Given the description of an element on the screen output the (x, y) to click on. 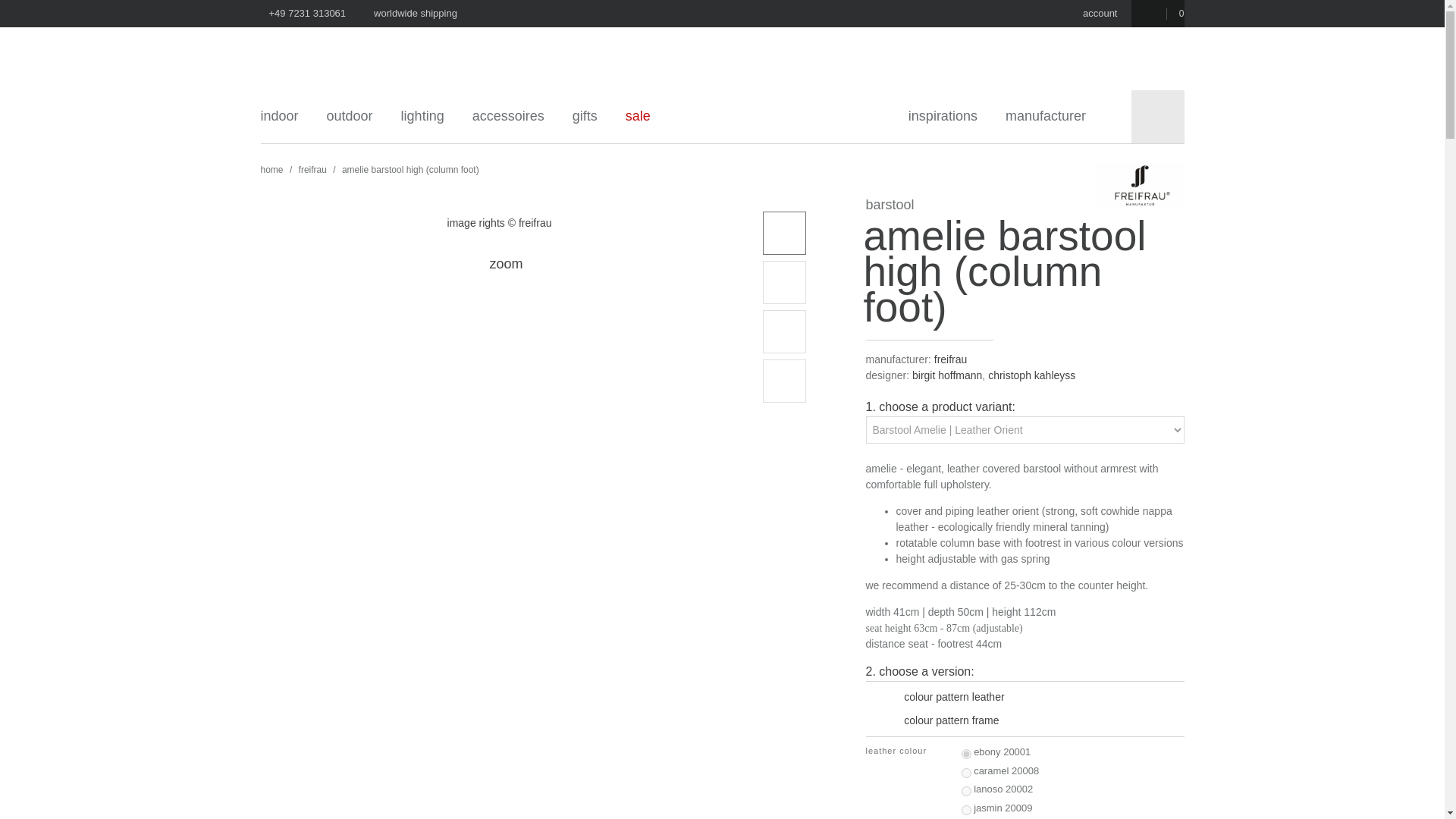
  colour pattern leather (947, 696)
  colour pattern frame (944, 720)
226547 (965, 809)
226546 (965, 791)
inspirations (948, 116)
226544 (965, 754)
outdoor (355, 116)
indoor (289, 116)
birgit hoffmann (946, 375)
home (273, 169)
christoph kahleyss (1031, 375)
sale (646, 116)
0 (1158, 13)
freifrau (312, 169)
account (1095, 13)
